Given the description of an element on the screen output the (x, y) to click on. 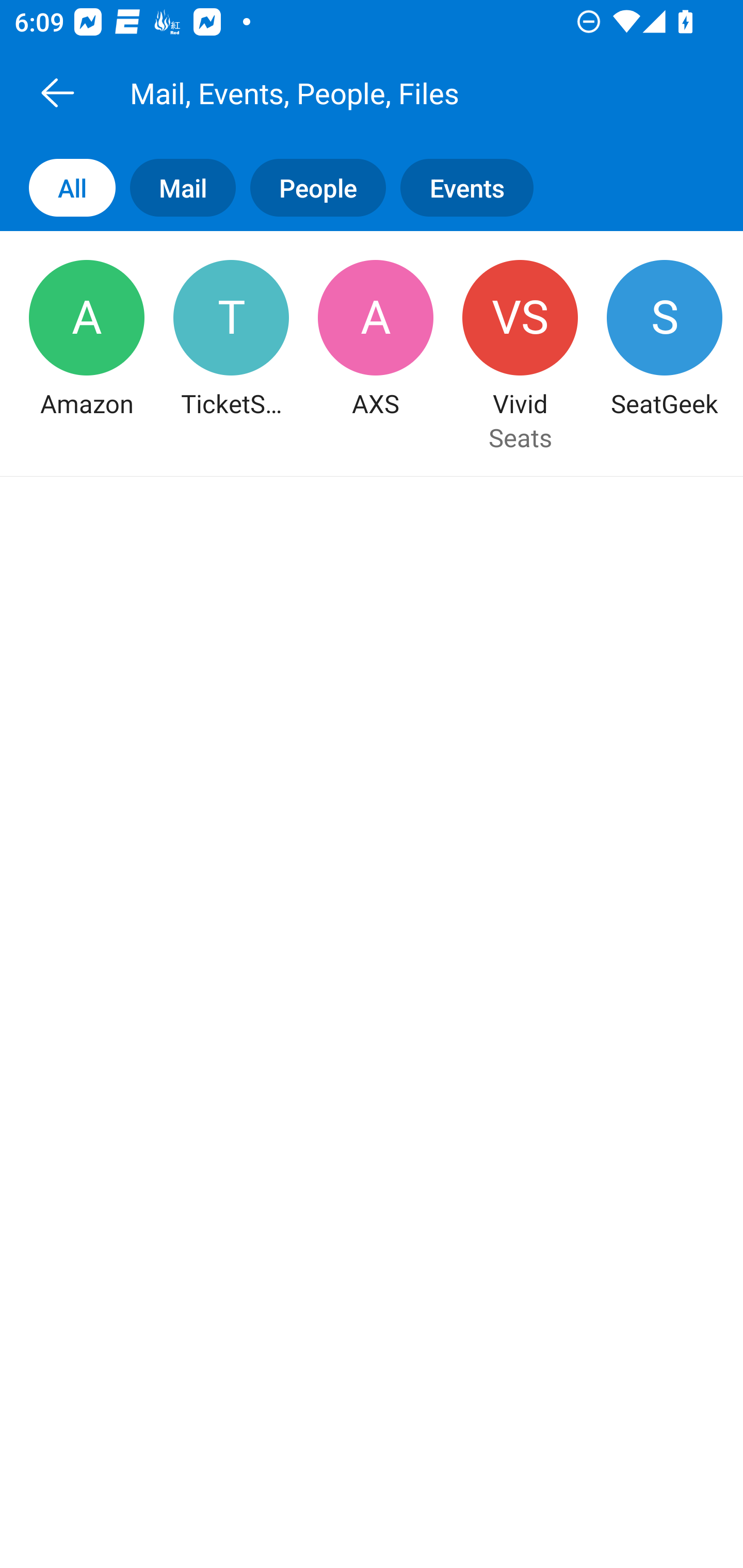
Back (57, 92)
Mail, Events, People, Files (394, 92)
Mail (175, 187)
People (310, 187)
Events (473, 187)
